Given the description of an element on the screen output the (x, y) to click on. 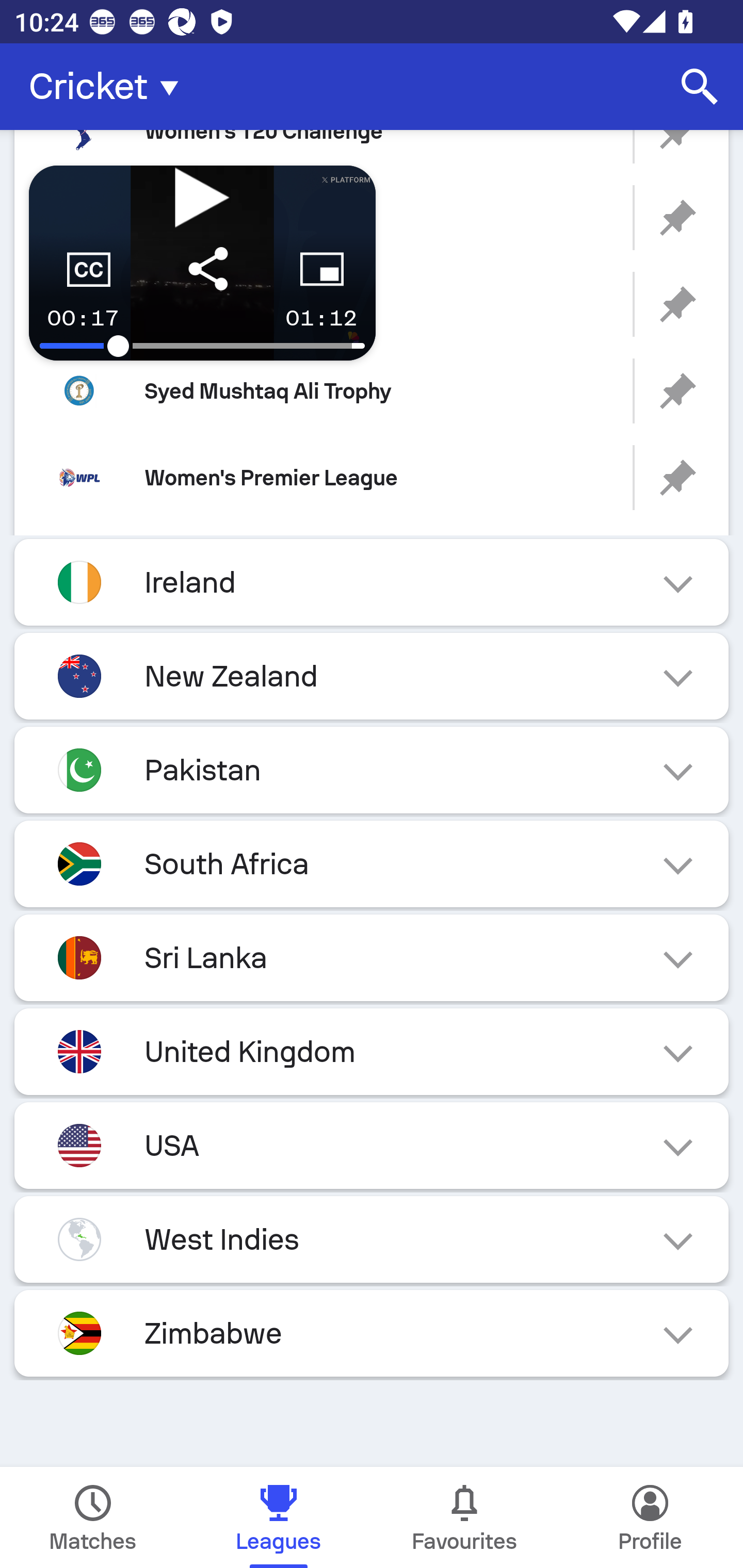
Cricket (109, 86)
Search (699, 86)
Syed Mushtaq Ali Trophy (371, 391)
Women's Premier League (371, 477)
Ireland (371, 582)
New Zealand (371, 676)
Pakistan (371, 769)
South Africa (371, 863)
Sri Lanka (371, 957)
United Kingdom (371, 1051)
USA (371, 1145)
West Indies (371, 1239)
Zimbabwe (371, 1333)
Matches (92, 1517)
Favourites (464, 1517)
Profile (650, 1517)
